Given the description of an element on the screen output the (x, y) to click on. 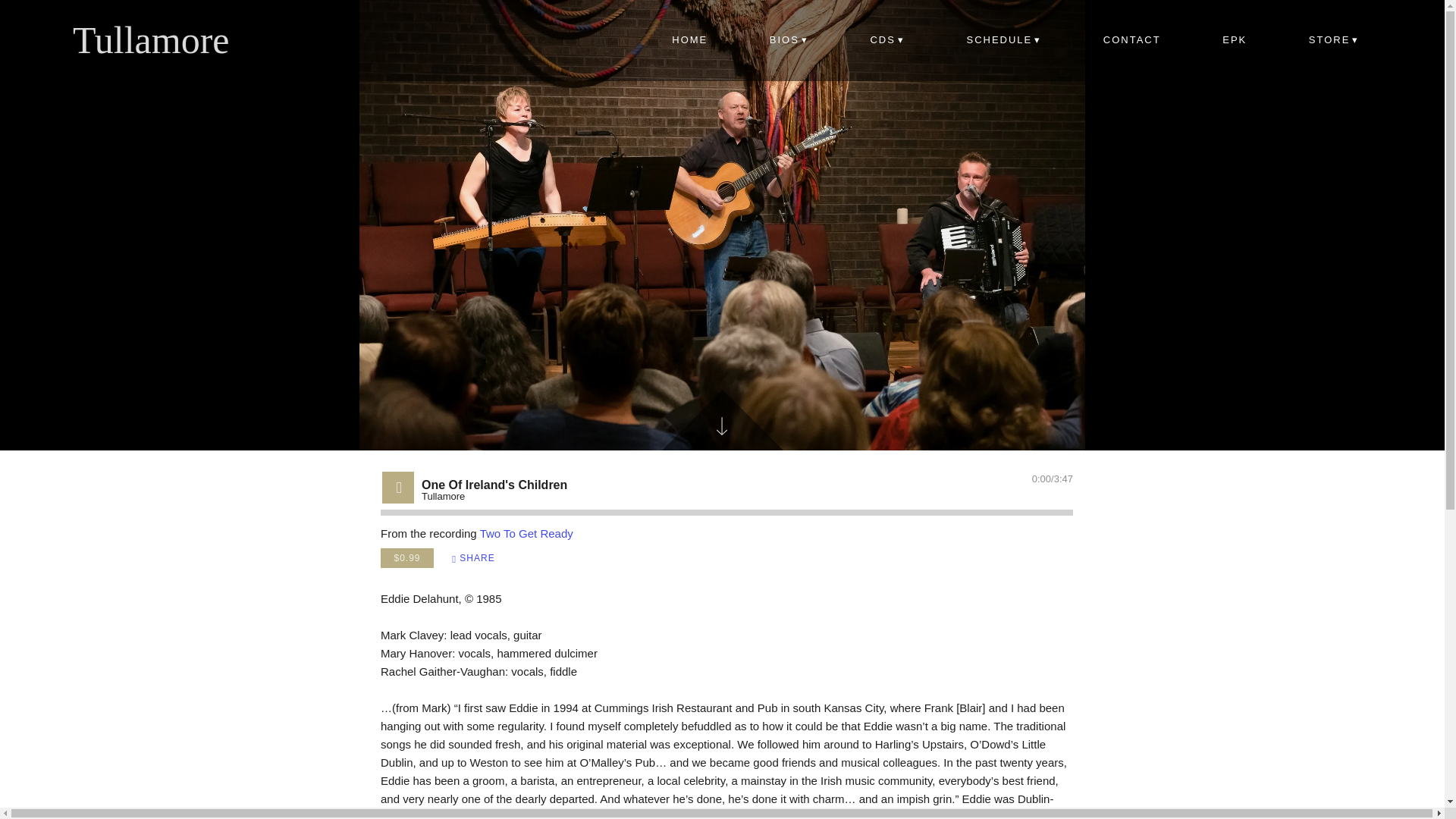
Tullamore (151, 40)
CDS (887, 40)
Play (398, 486)
SCHEDULE (1003, 40)
CONTACT (1131, 40)
Share One Of Ireland's Children (472, 558)
HOME (689, 40)
BIOS (789, 40)
